Given the description of an element on the screen output the (x, y) to click on. 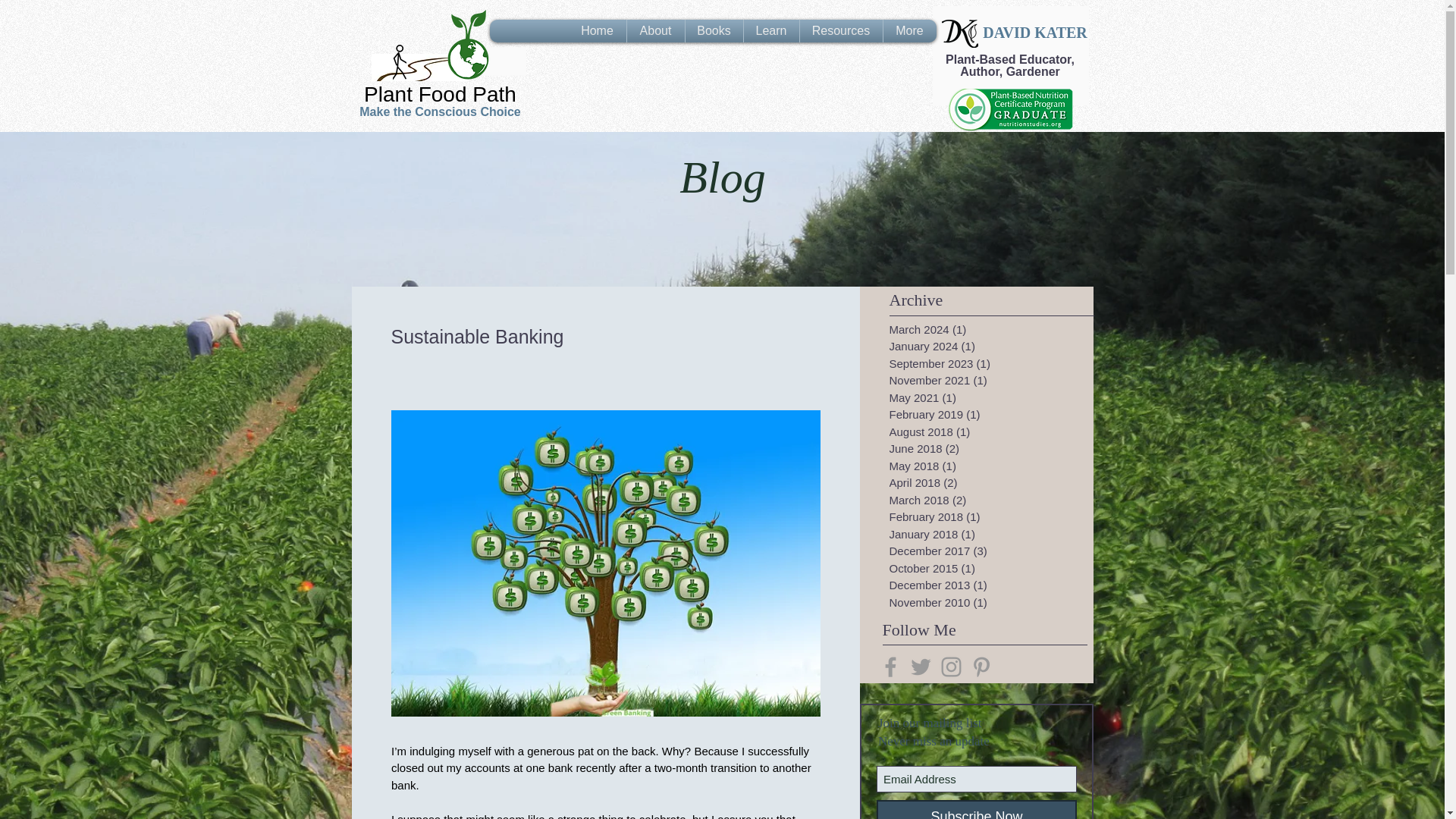
Make the Conscious Choice (440, 111)
Plant-Based Educator, (1009, 59)
DAVID KATER (1034, 32)
Gardener (1032, 71)
Wix Get Subscribers (976, 761)
Home (596, 30)
